Given the description of an element on the screen output the (x, y) to click on. 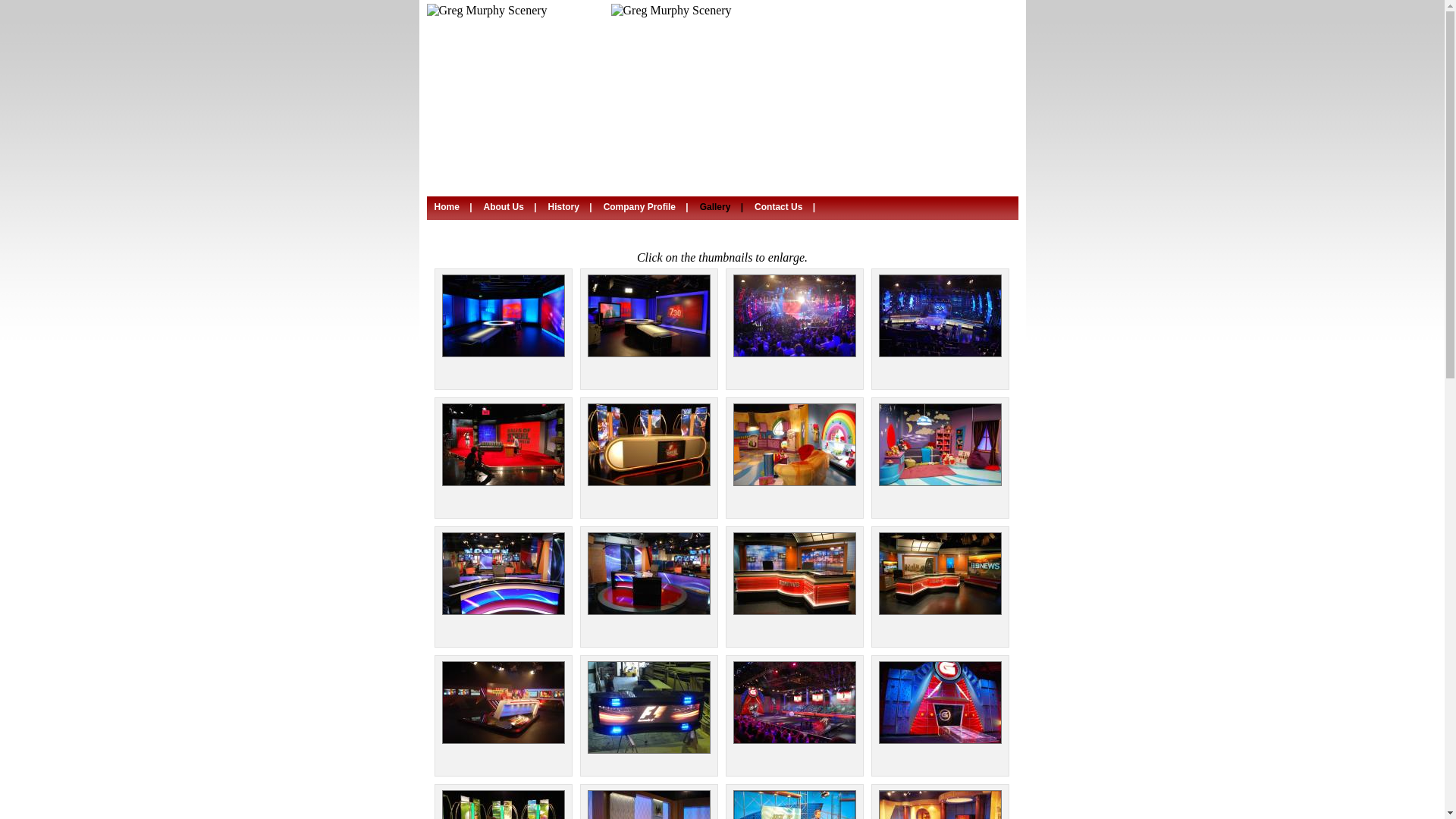
Contact Us    |    Element type: text (786, 206)
History    |    Element type: text (571, 206)
About Us    |    Element type: text (512, 206)
Gallery    |    Element type: text (723, 206)
Home    |    Element type: text (455, 206)
Company Profile    |    Element type: text (647, 206)
